Given the description of an element on the screen output the (x, y) to click on. 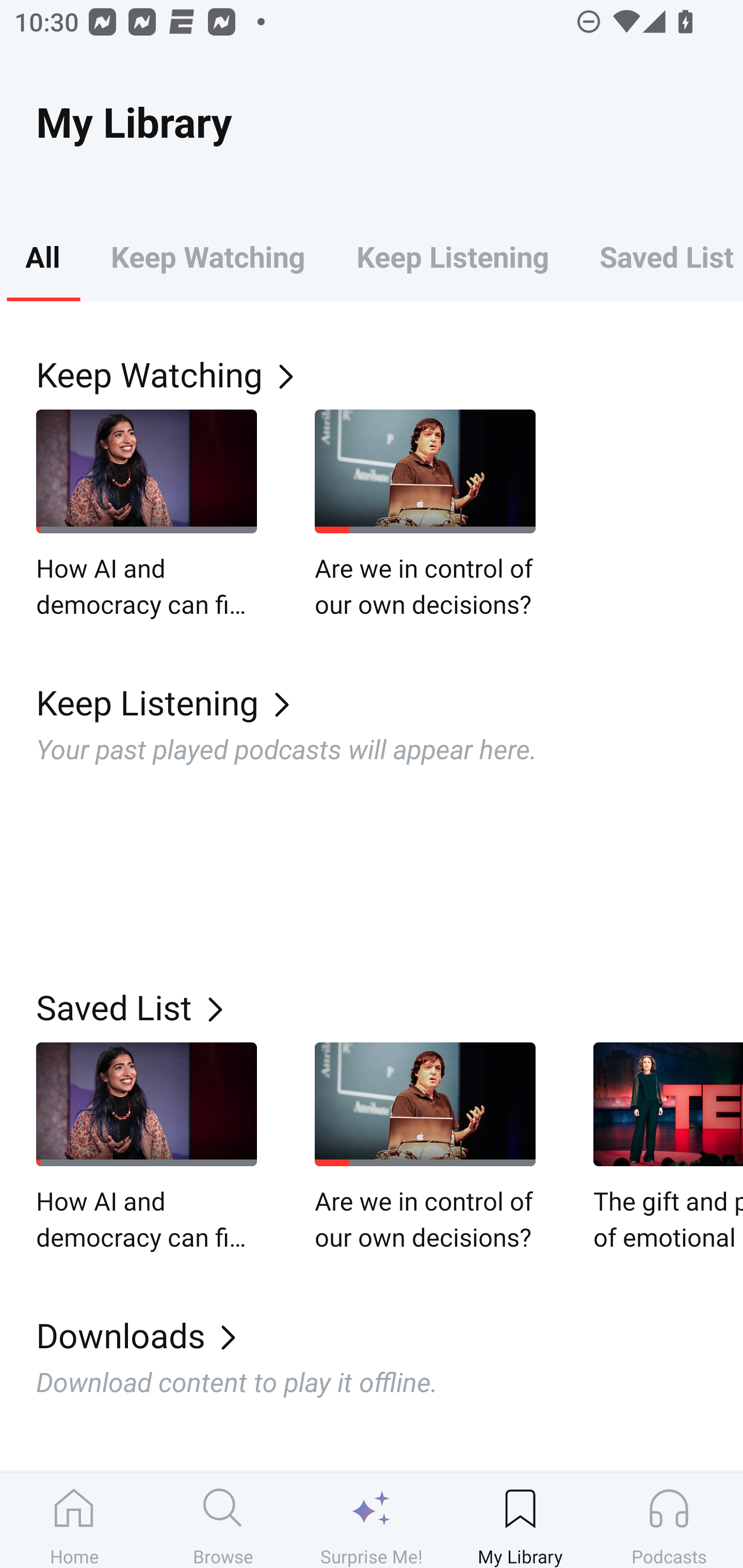
All (42, 256)
Keep Watching (207, 256)
Keep Listening (452, 256)
Saved List (658, 256)
Keep Watching (389, 373)
How AI and democracy can fix each other (146, 514)
Are we in control of our own decisions? (425, 514)
Keep Listening (389, 702)
Saved List (389, 1007)
How AI and democracy can fix each other (146, 1148)
Are we in control of our own decisions? (425, 1148)
The gift and power of emotional courage (668, 1148)
Downloads (389, 1334)
Home (74, 1520)
Browse (222, 1520)
Surprise Me! (371, 1520)
My Library (519, 1520)
Podcasts (668, 1520)
